Given the description of an element on the screen output the (x, y) to click on. 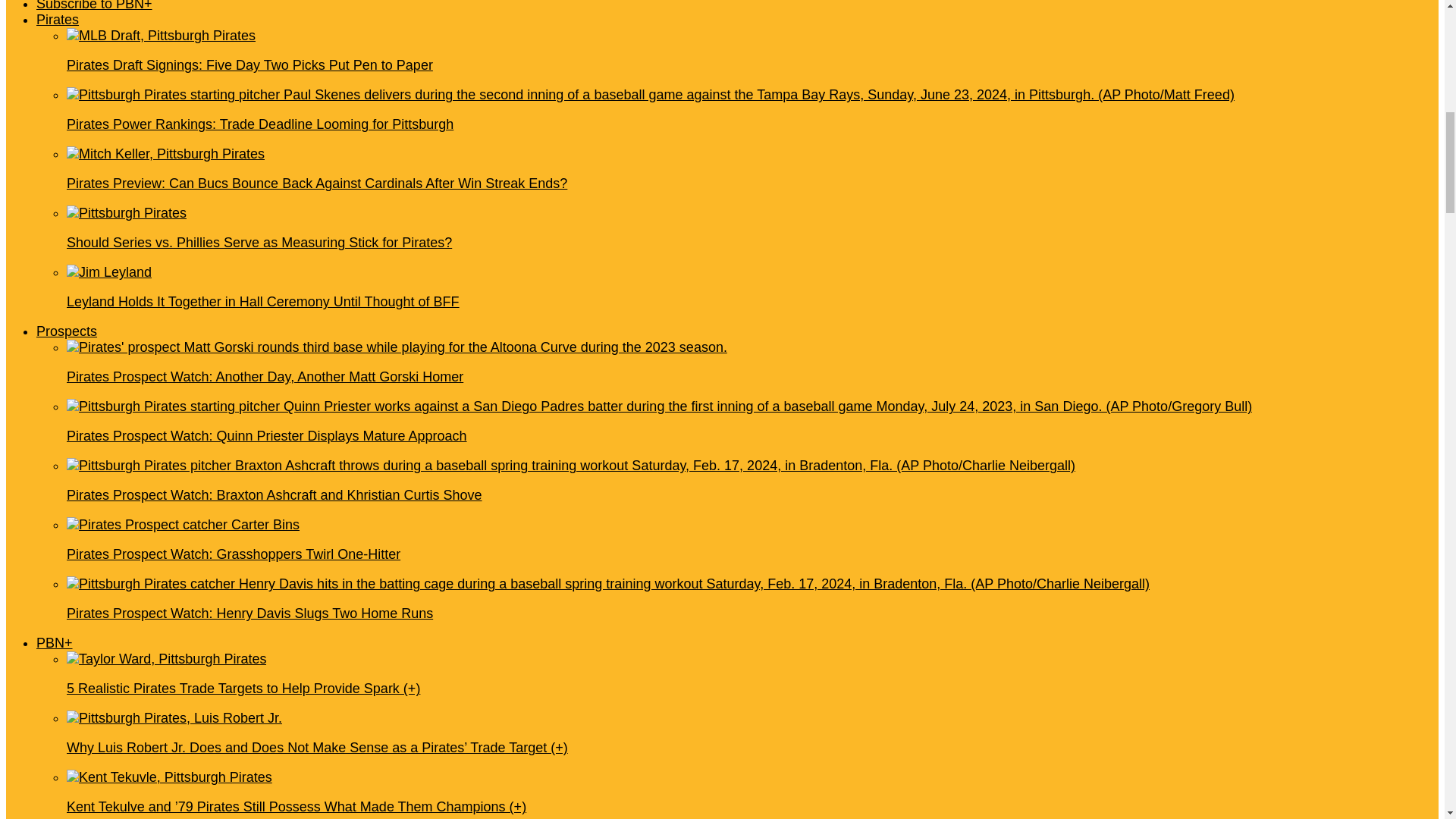
Pirates (57, 19)
